Given the description of an element on the screen output the (x, y) to click on. 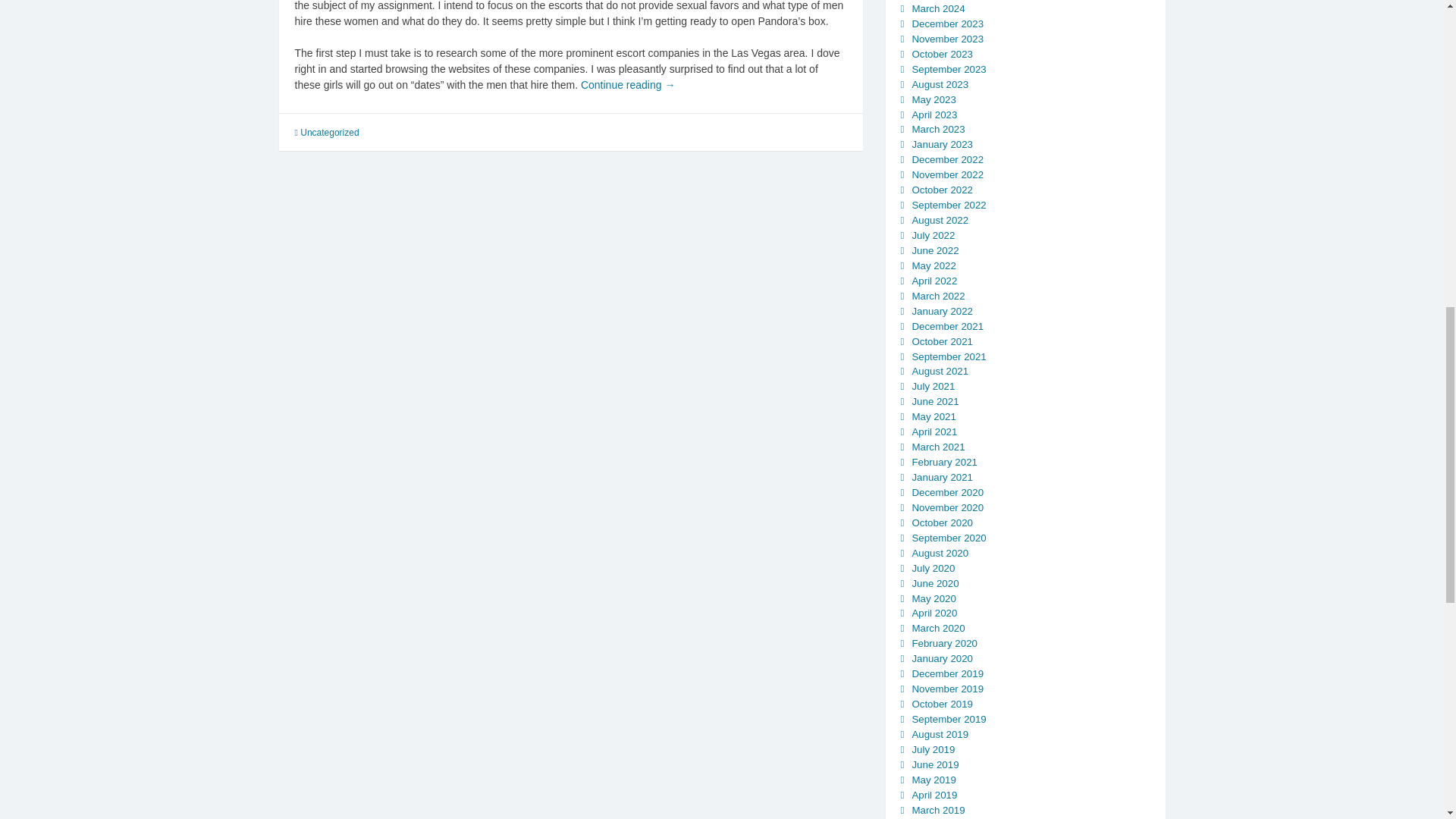
September 2023 (948, 69)
August 2023 (939, 84)
August 2022 (939, 220)
March 2023 (937, 129)
March 2024 (937, 8)
November 2023 (947, 39)
May 2023 (933, 99)
November 2022 (947, 174)
April 2023 (933, 114)
December 2022 (947, 159)
December 2023 (947, 23)
September 2022 (948, 204)
October 2023 (941, 53)
January 2023 (941, 143)
July 2022 (933, 235)
